Given the description of an element on the screen output the (x, y) to click on. 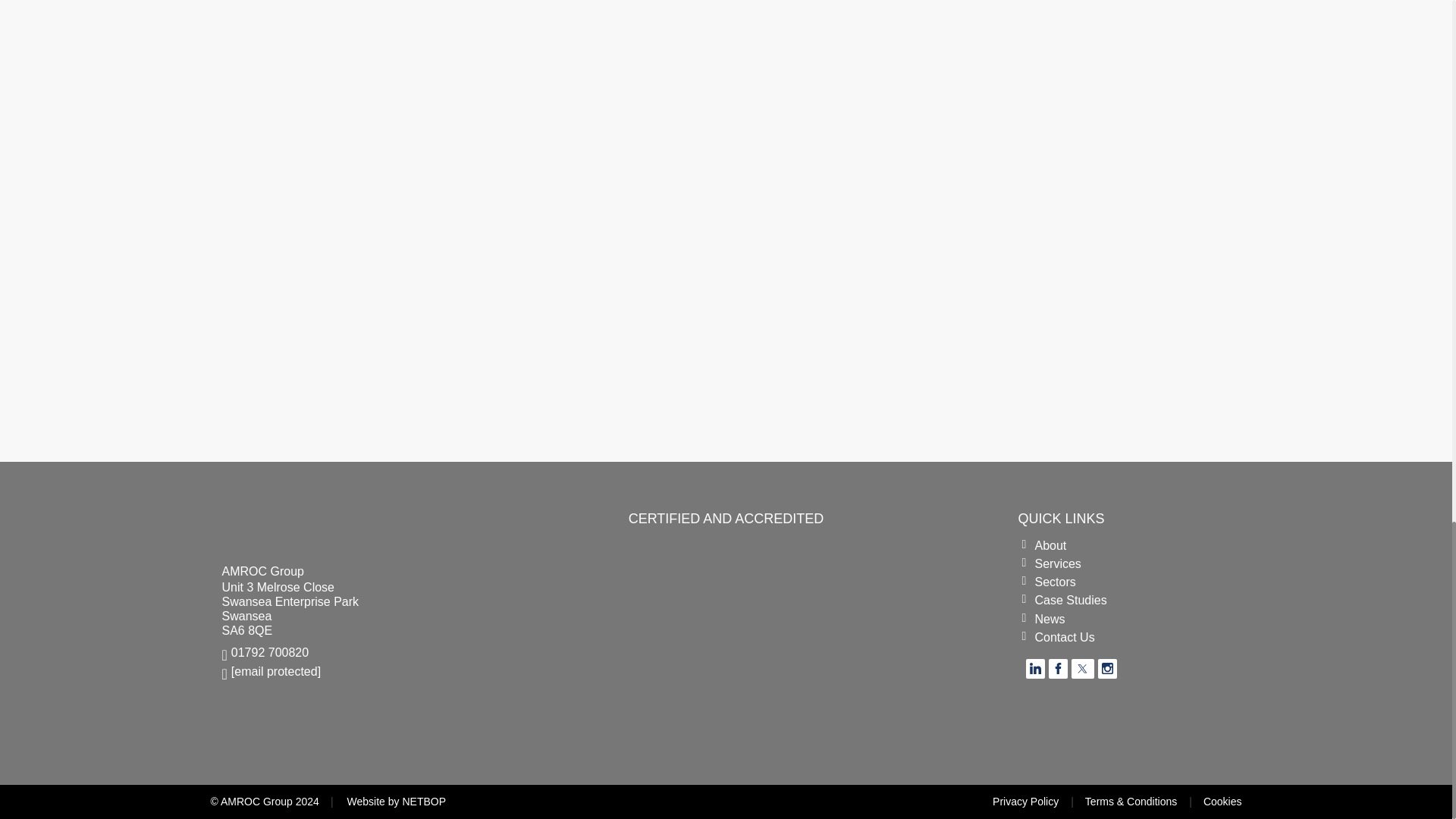
AMROC Group (312, 524)
01792 700820 (339, 651)
